Given the description of an element on the screen output the (x, y) to click on. 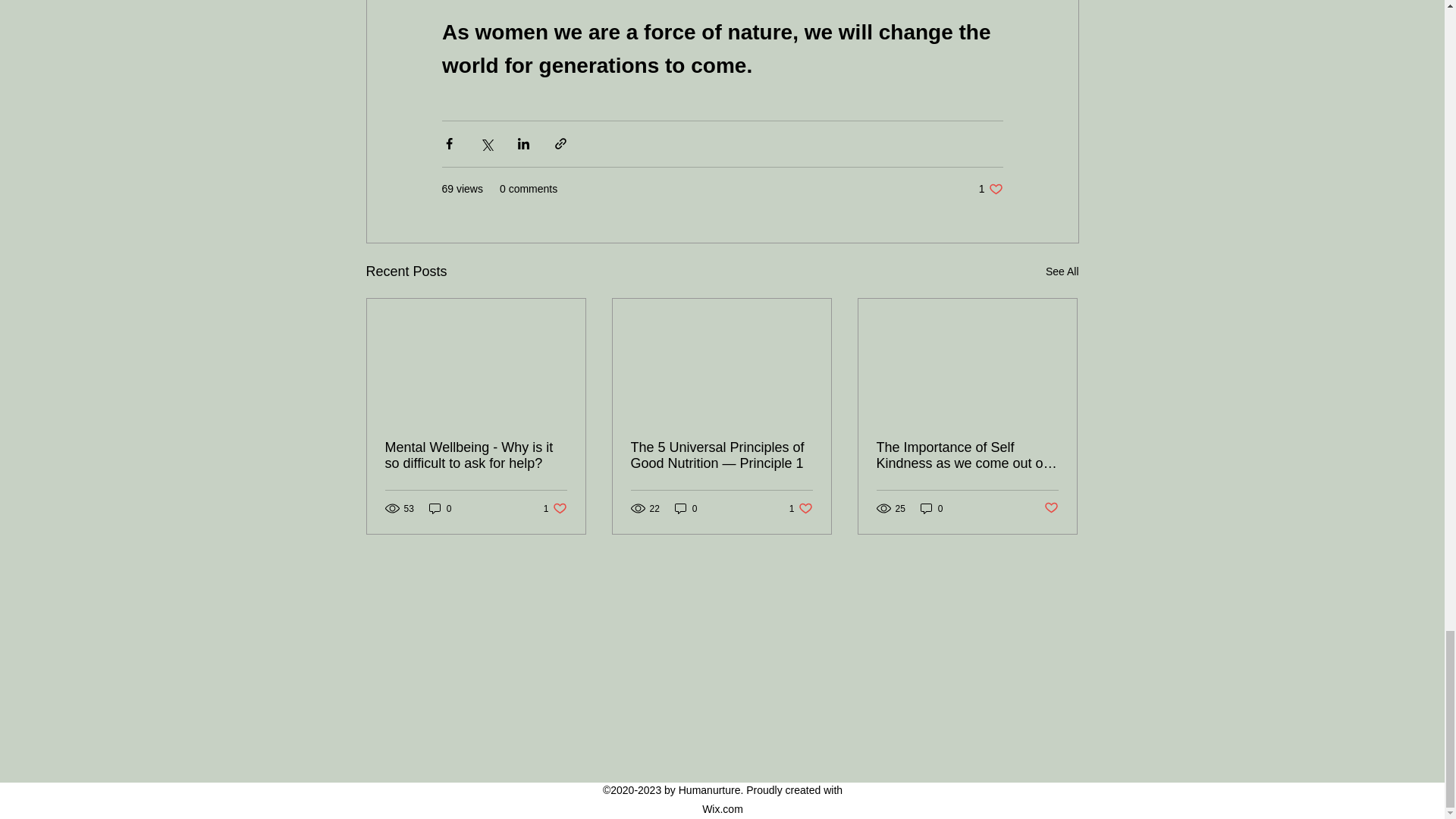
0 (990, 188)
The Importance of Self Kindness as we come out of Lock-down (931, 508)
Mental Wellbeing - Why is it so difficult to ask for help? (967, 455)
0 (476, 455)
0 (440, 508)
See All (800, 508)
Post not marked as liked (555, 508)
